Given the description of an element on the screen output the (x, y) to click on. 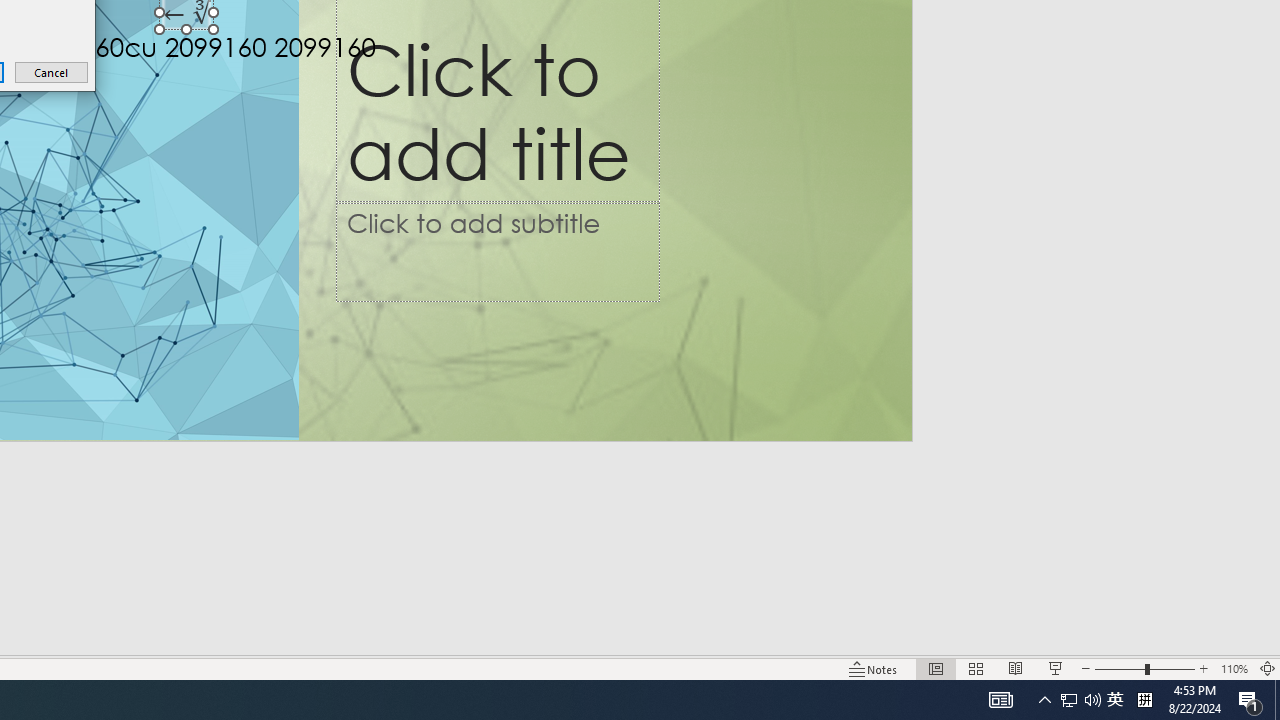
Zoom 110% (1234, 668)
